Given the description of an element on the screen output the (x, y) to click on. 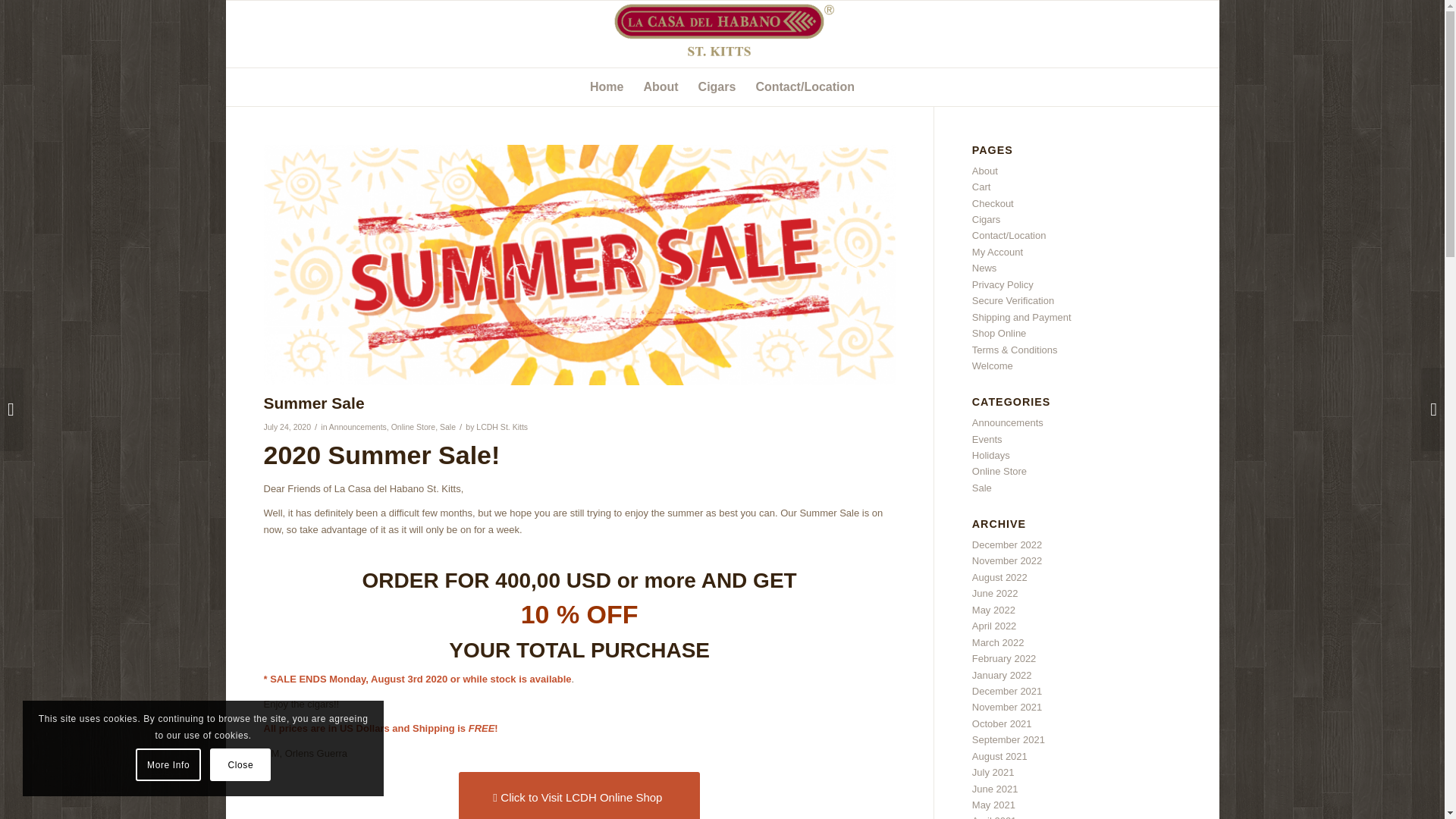
About (660, 86)
LCDH St. Kitts (501, 426)
Announcements (358, 426)
Posts by LCDH St. Kitts (501, 426)
Cigars (716, 86)
Cart (981, 186)
Click to Visit LCDH Online Shop (579, 795)
Online Store (413, 426)
Sale (447, 426)
